Given the description of an element on the screen output the (x, y) to click on. 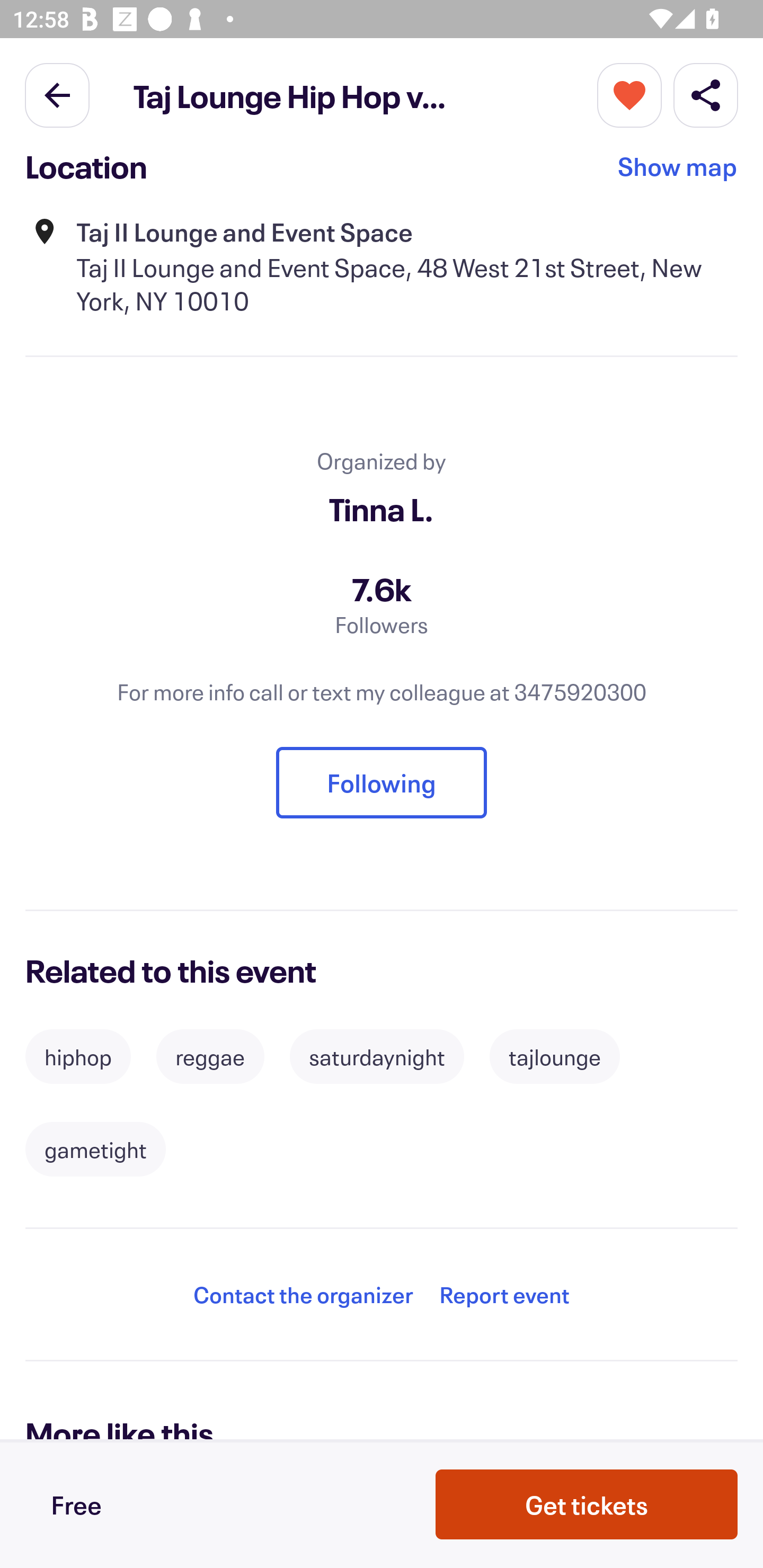
Back (57, 94)
More (629, 94)
Share (705, 94)
Show map (677, 171)
Tinna L. (381, 508)
Following (381, 782)
hiphop (78, 1056)
reggae (210, 1056)
saturdaynight (376, 1056)
tajlounge (554, 1056)
gametight (95, 1148)
Contact the organizer (303, 1293)
Report event (504, 1293)
Get tickets (586, 1504)
